Given the description of an element on the screen output the (x, y) to click on. 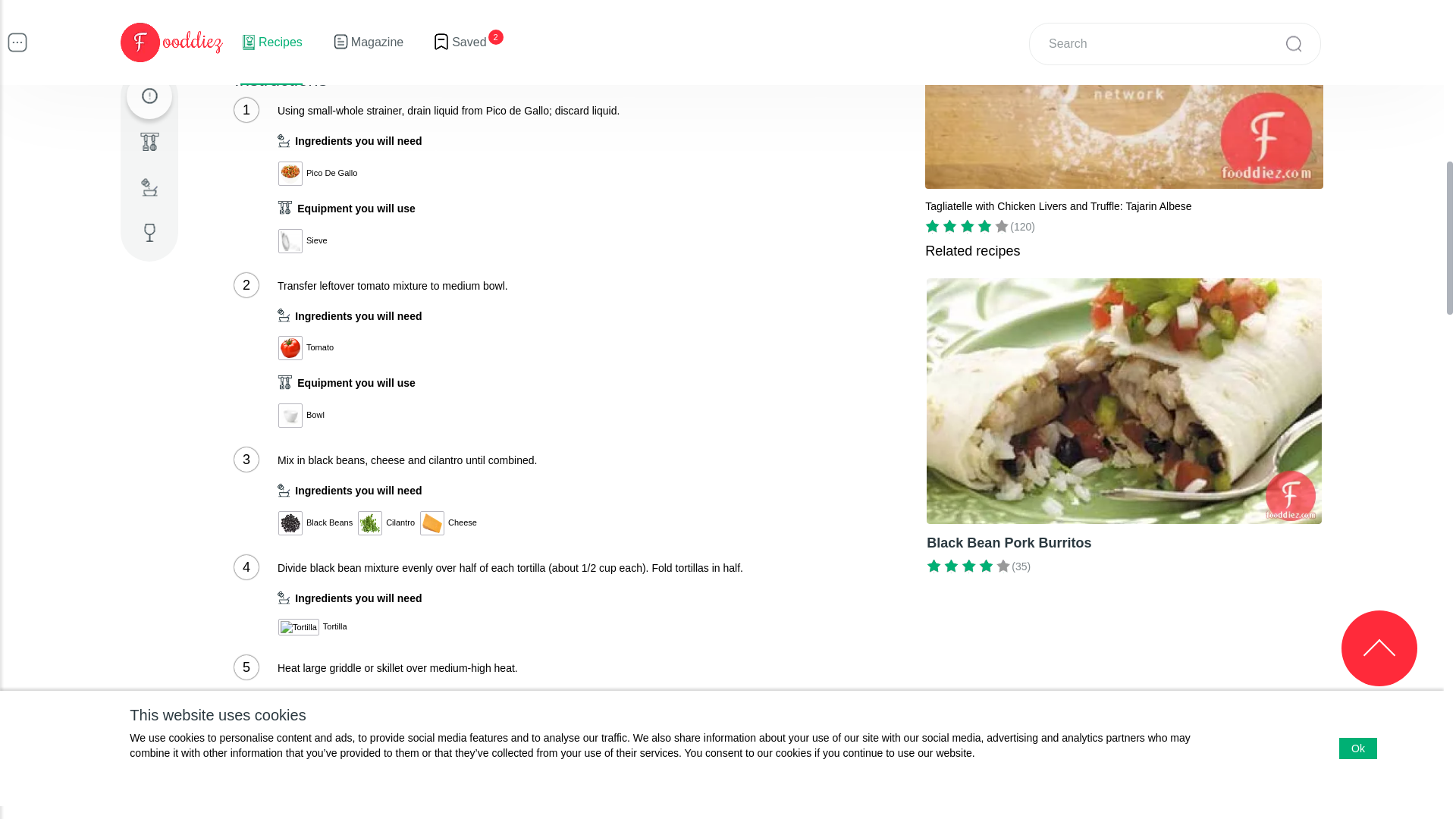
Ingredients (148, 186)
Recommended wine (148, 232)
Equipment (148, 141)
Instructions (148, 95)
